Given the description of an element on the screen output the (x, y) to click on. 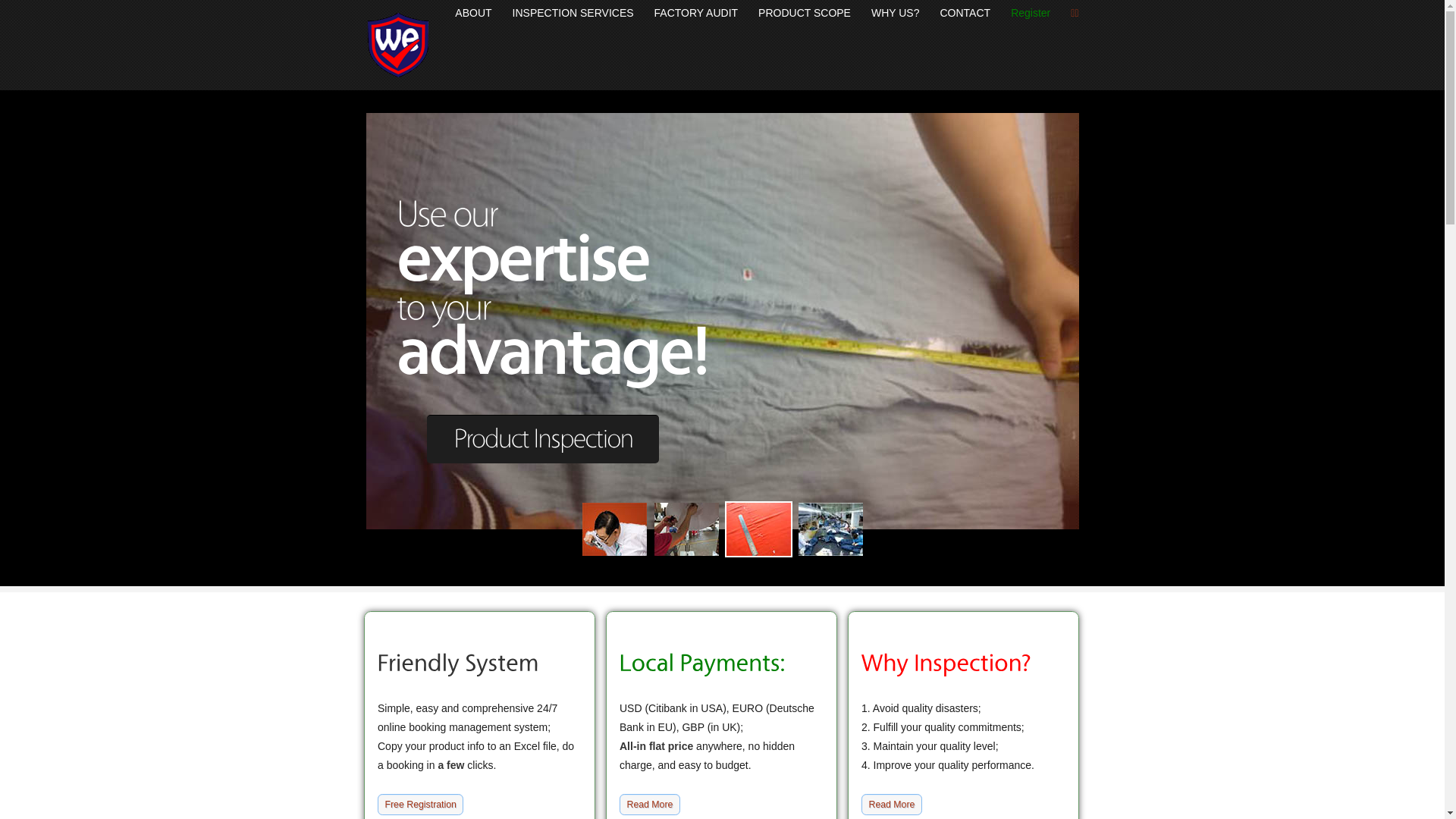
Read More Element type: text (649, 804)
INSPECTION SERVICES Element type: text (572, 13)
CONTACT Element type: text (965, 13)
ABOUT Element type: text (473, 13)
FACTORY AUDIT Element type: text (695, 13)
Free Registration Element type: text (420, 804)
PRODUCT SCOPE Element type: text (804, 13)
WHY US? Element type: text (895, 13)
Read More Element type: text (891, 804)
Register Element type: text (1030, 13)
